Given the description of an element on the screen output the (x, y) to click on. 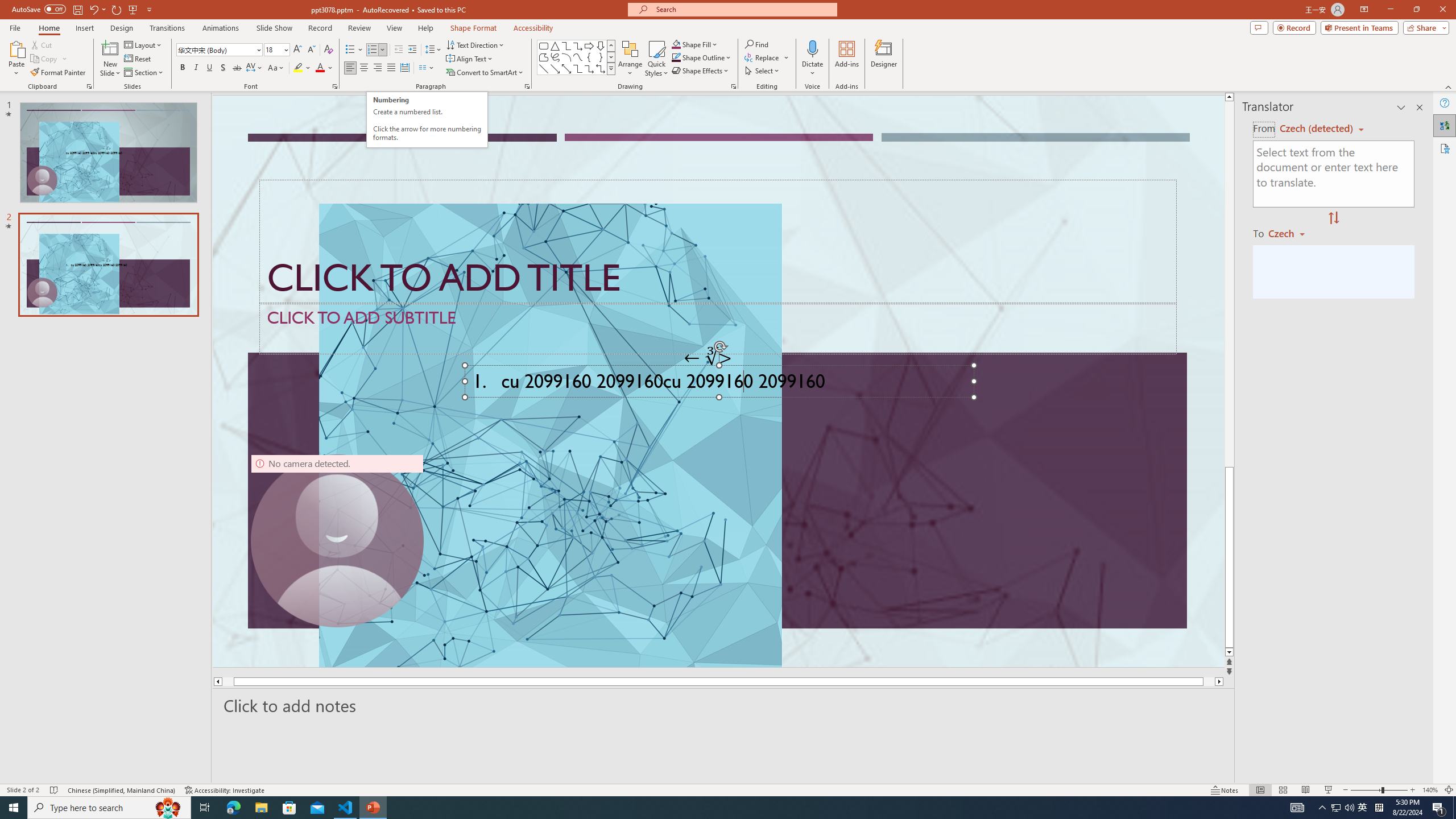
Align Right (377, 67)
Section (144, 72)
Clear Formatting (327, 49)
Reset (138, 58)
Bold (182, 67)
